Given the description of an element on the screen output the (x, y) to click on. 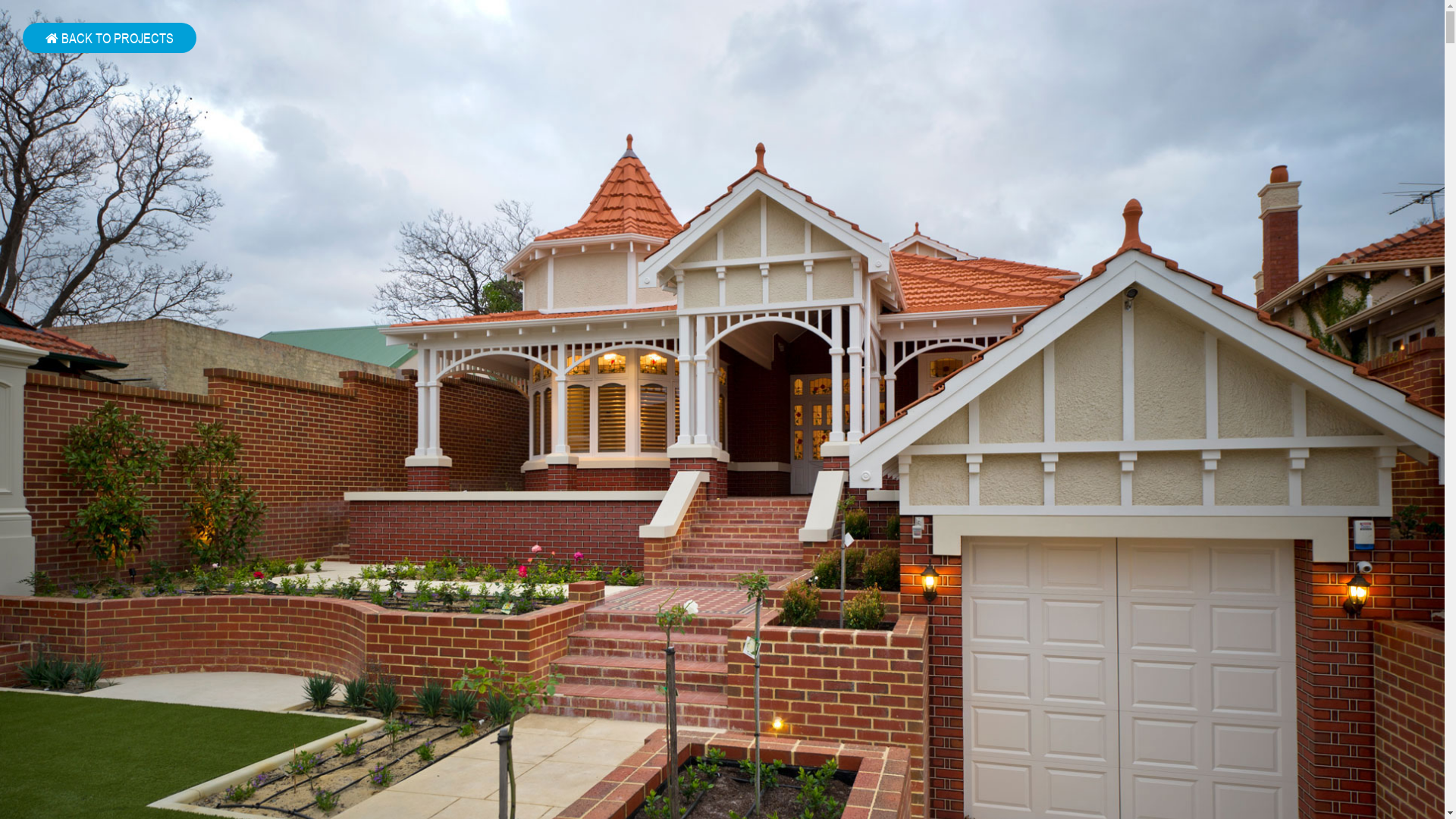
BACK TO PROJECTS Element type: text (109, 37)
